Given the description of an element on the screen output the (x, y) to click on. 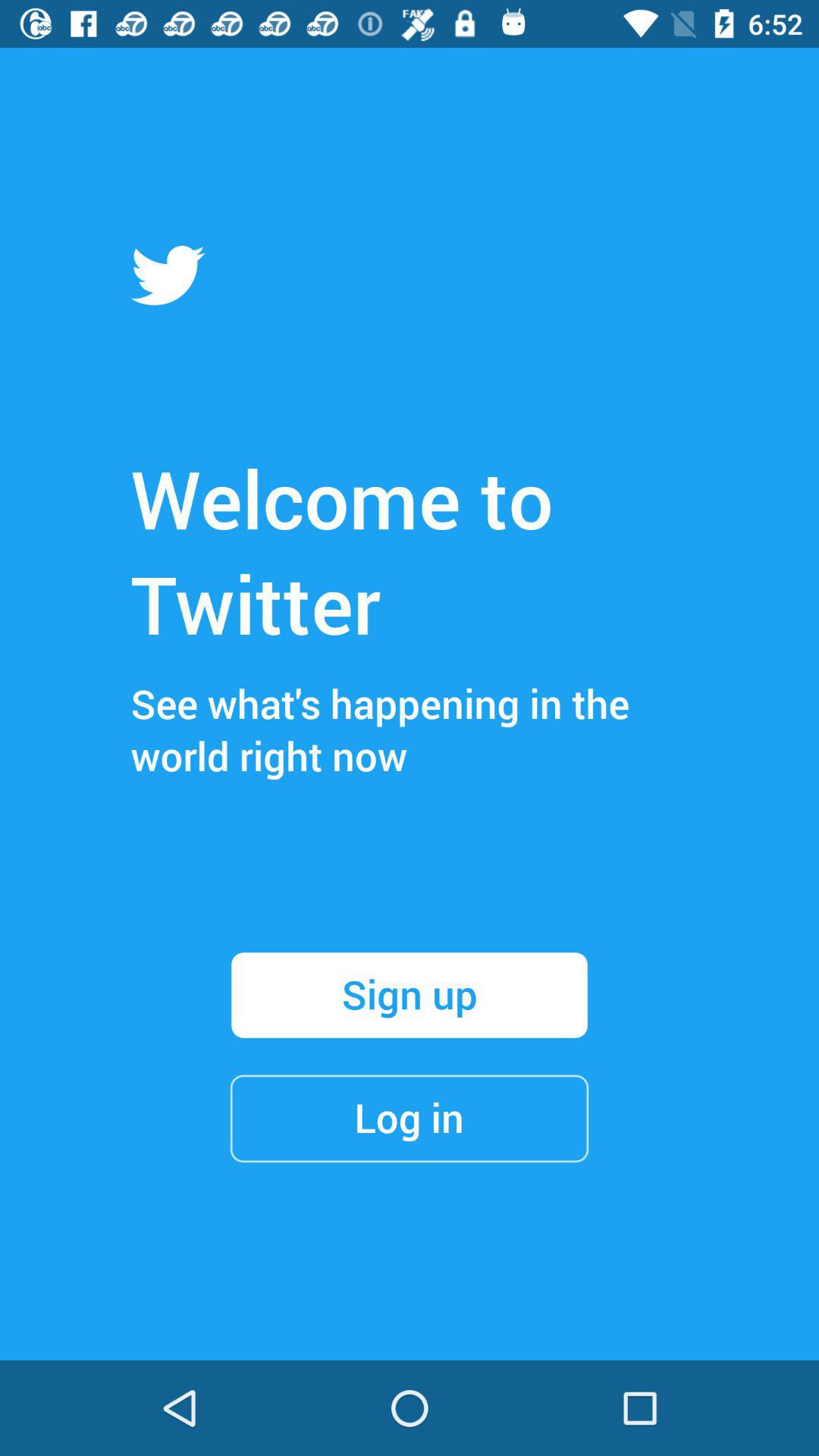
open the icon above the log in item (409, 995)
